Given the description of an element on the screen output the (x, y) to click on. 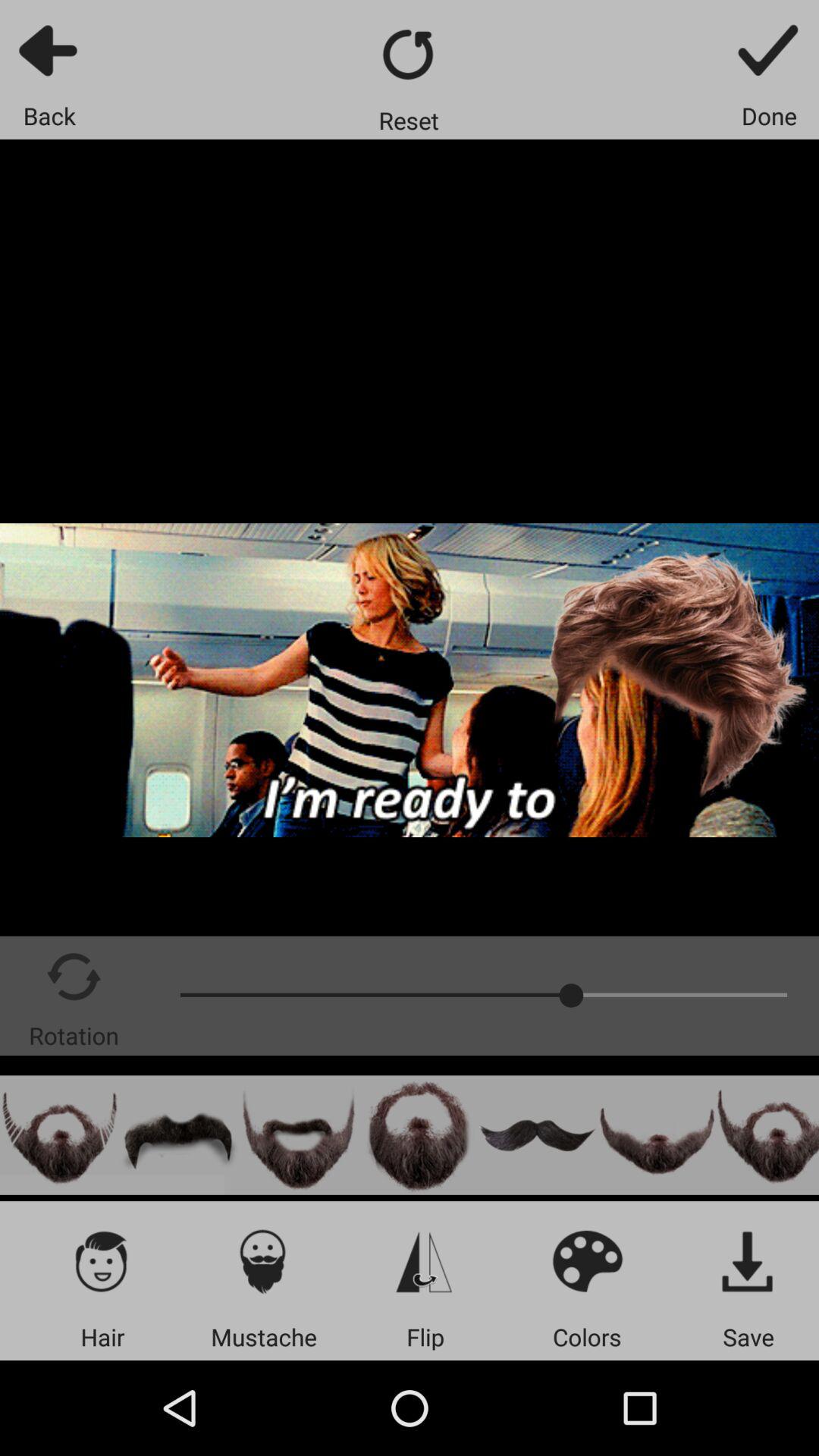
turn on the item above the save app (748, 1260)
